Given the description of an element on the screen output the (x, y) to click on. 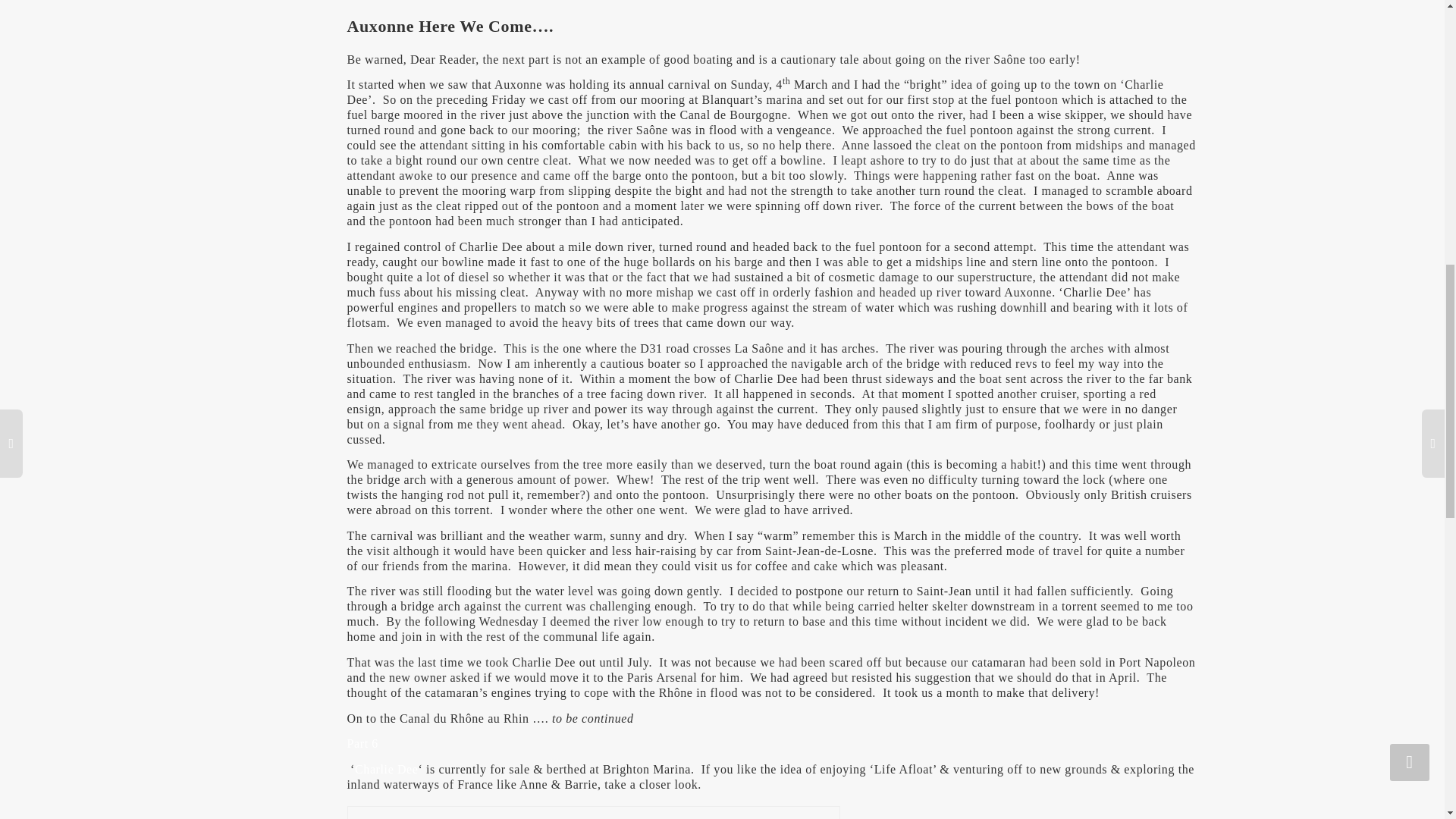
Charlie Dee (386, 768)
Part 6 (362, 743)
Charlie Dee (386, 768)
Part 6 (362, 743)
